Given the description of an element on the screen output the (x, y) to click on. 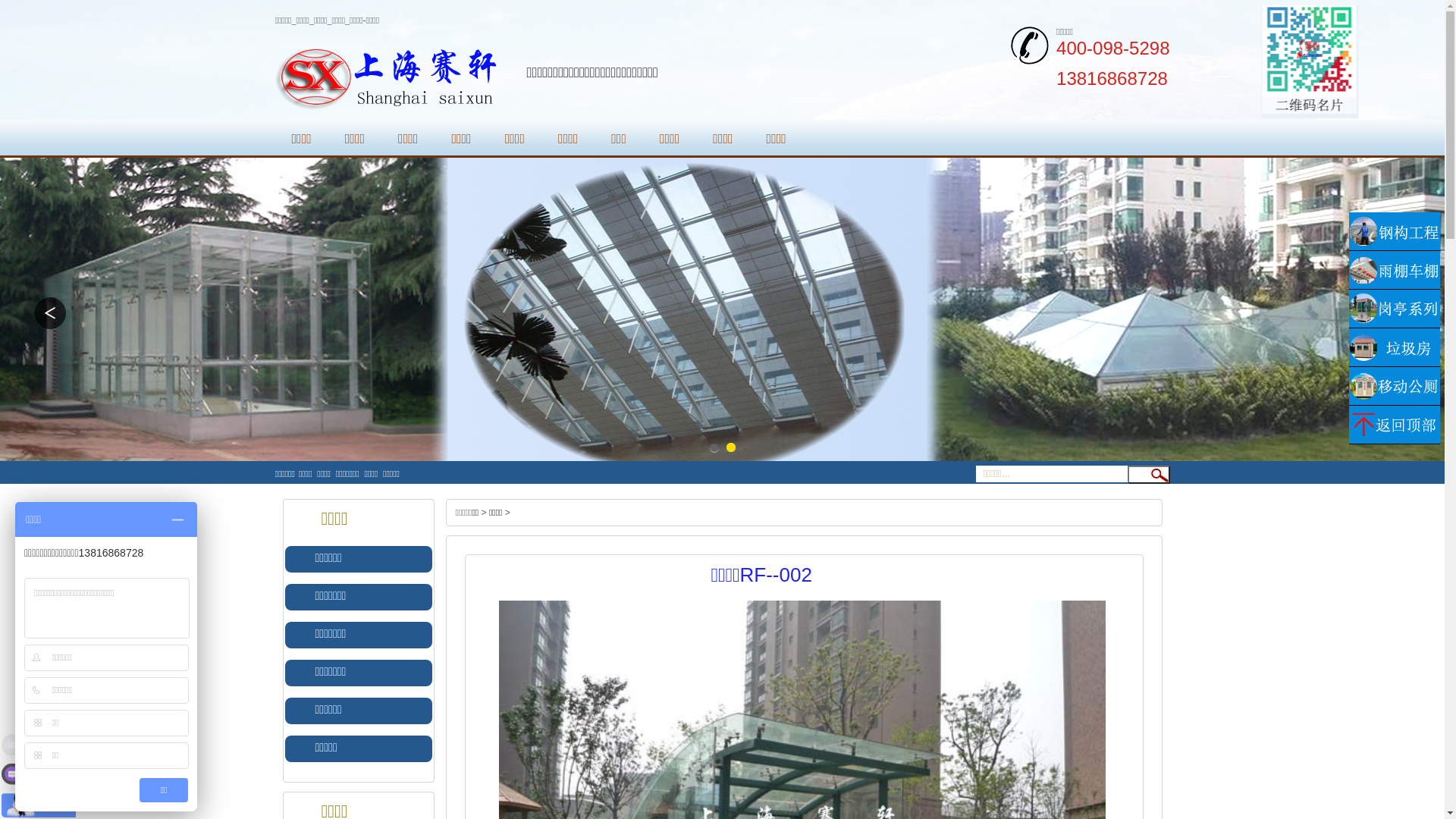
2 Element type: text (731, 447)
1 Element type: text (713, 447)
